Given the description of an element on the screen output the (x, y) to click on. 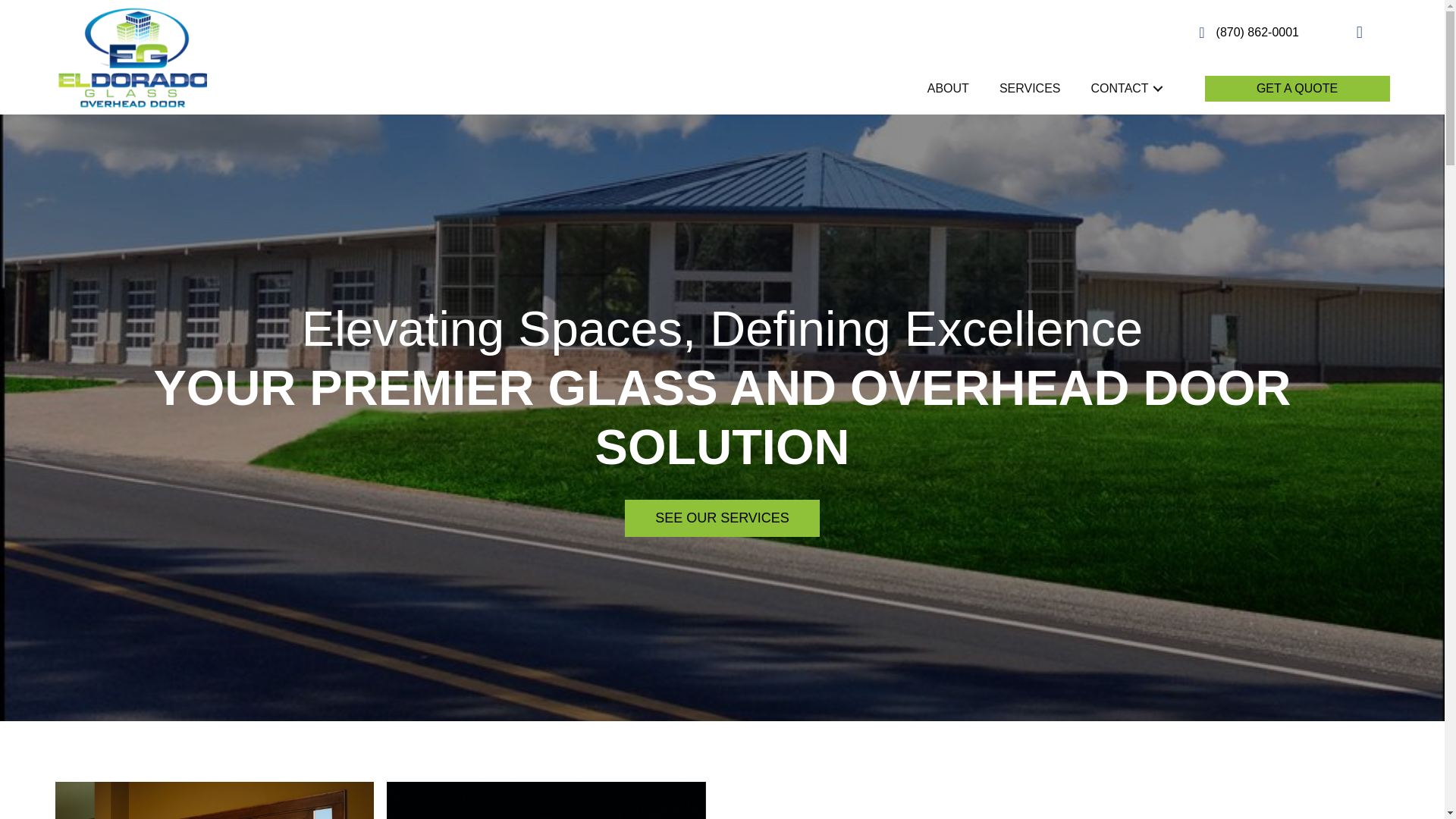
SEE OUR SERVICES (721, 518)
CONTACT (1128, 88)
GET A QUOTE (1297, 88)
ABOUT (948, 88)
SERVICES (1029, 88)
logo (130, 56)
